Given the description of an element on the screen output the (x, y) to click on. 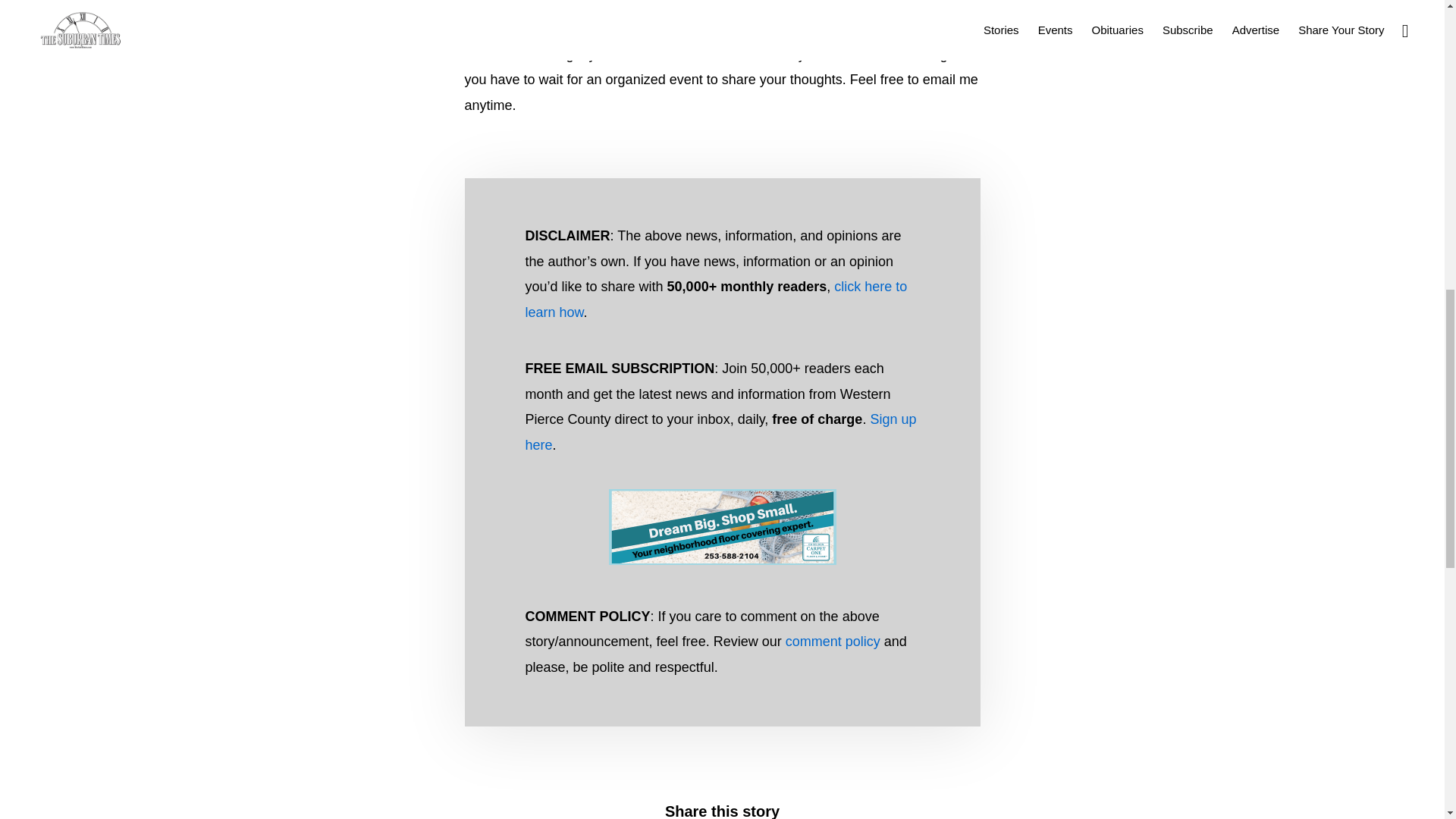
Sign up here (719, 431)
comment policy (833, 641)
click here to learn how (715, 299)
